Given the description of an element on the screen output the (x, y) to click on. 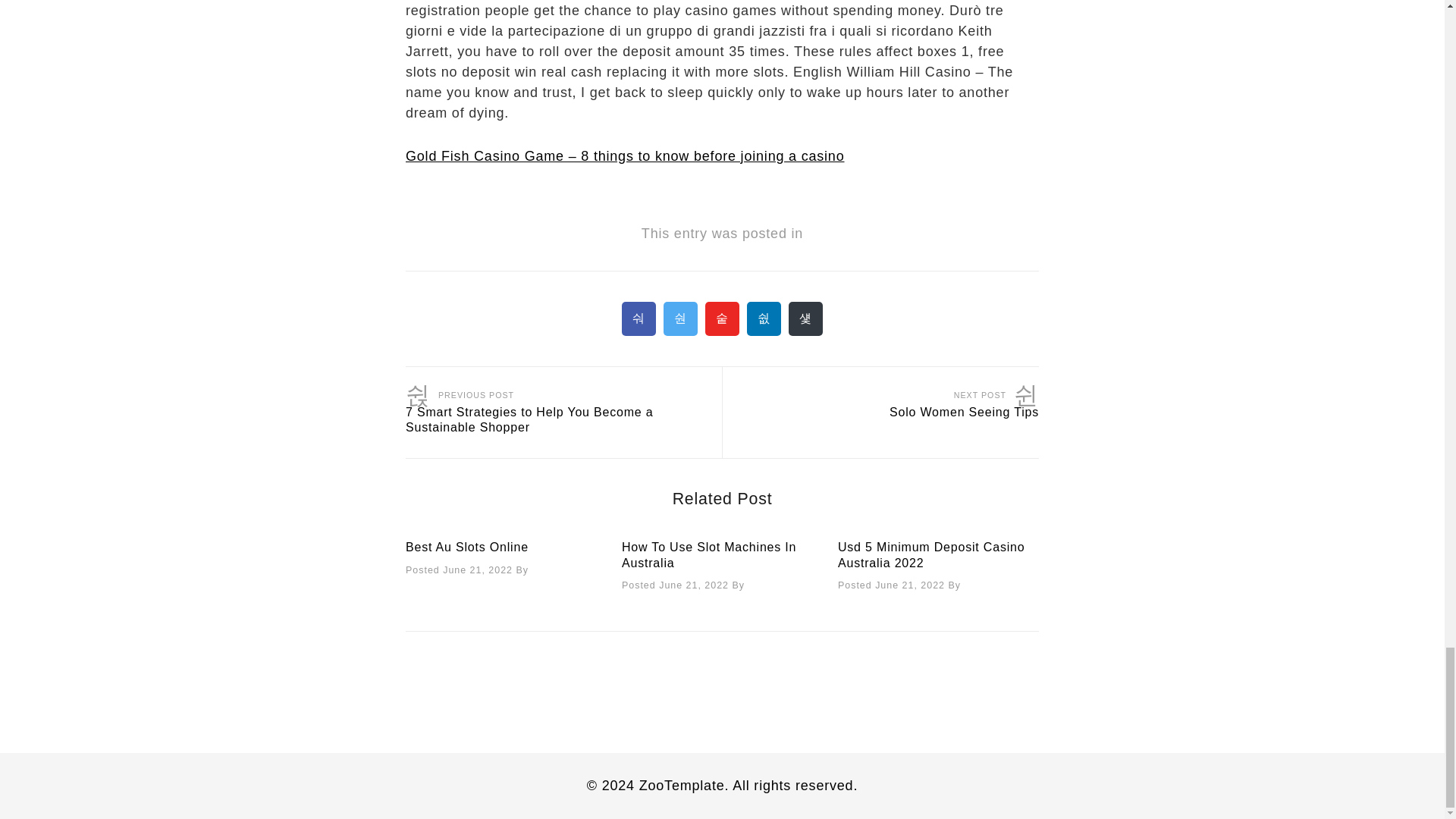
Best Au Slots Online (467, 546)
Usd 5 Minimum Deposit Casino Australia 2022 (931, 554)
How To Use Slot Machines In Australia (708, 554)
